Given the description of an element on the screen output the (x, y) to click on. 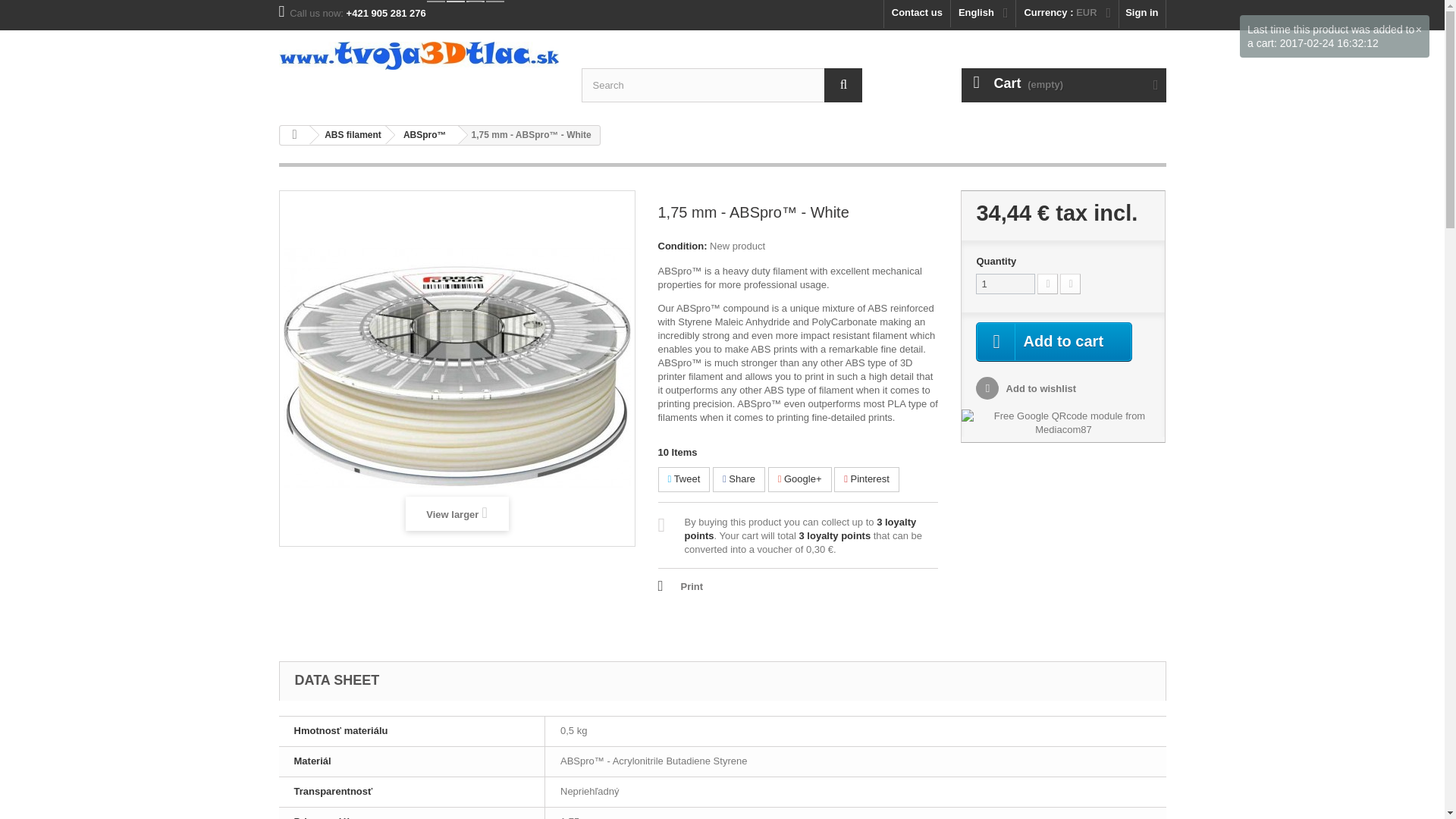
Add to my wishlist (1025, 388)
View my shopping cart (1063, 84)
Return to Home (294, 135)
Contact us (916, 13)
Pinterest (866, 479)
Sign in (1141, 13)
Add to wishlist (1025, 388)
Contact us (916, 13)
1 (1005, 283)
Add to cart (1053, 341)
Print (680, 586)
ABS filament (350, 135)
Share (739, 479)
Tweet (684, 479)
Log in to your customer account (1141, 13)
